Given the description of an element on the screen output the (x, y) to click on. 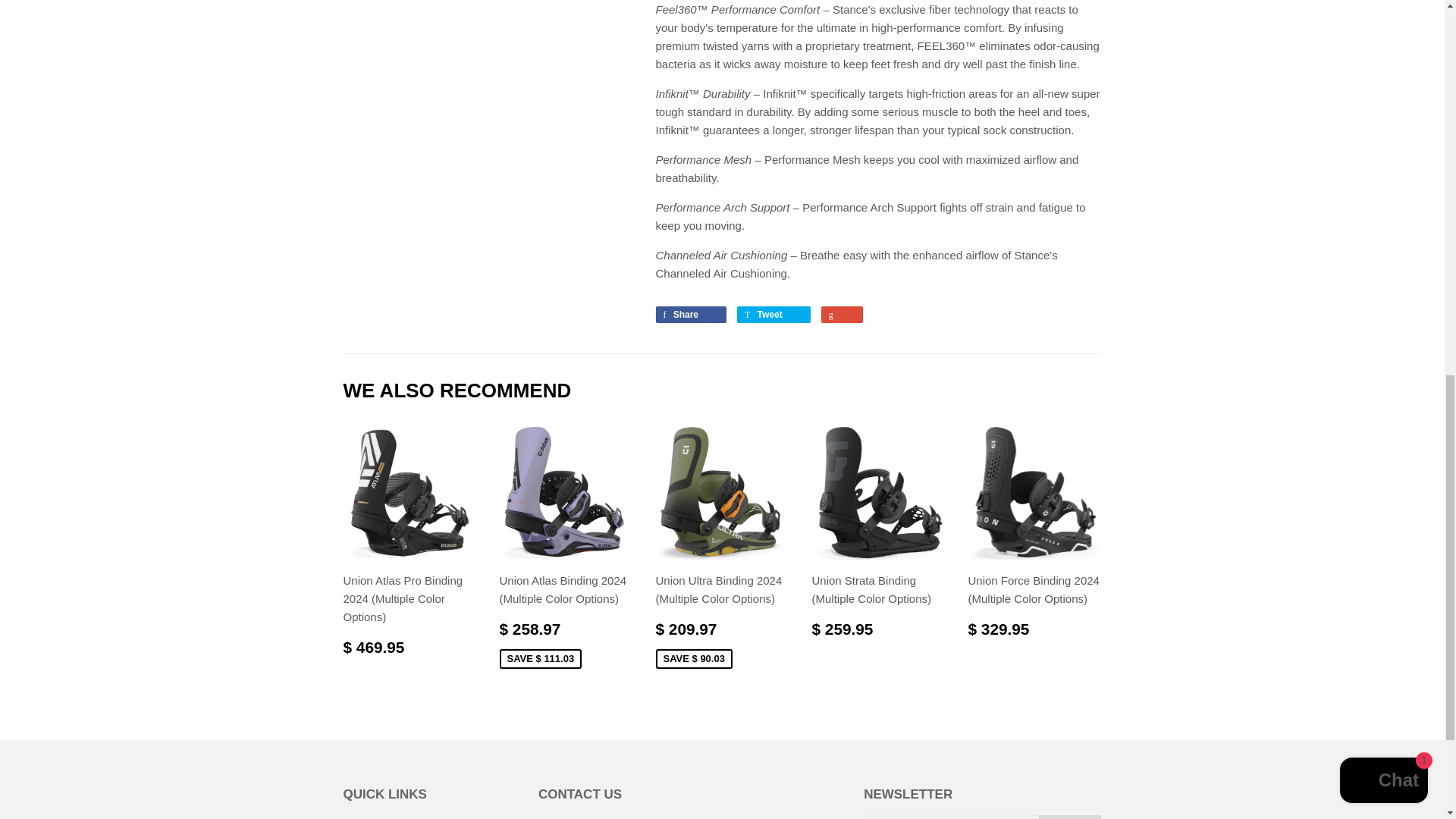
Sign Up (1070, 816)
